Given the description of an element on the screen output the (x, y) to click on. 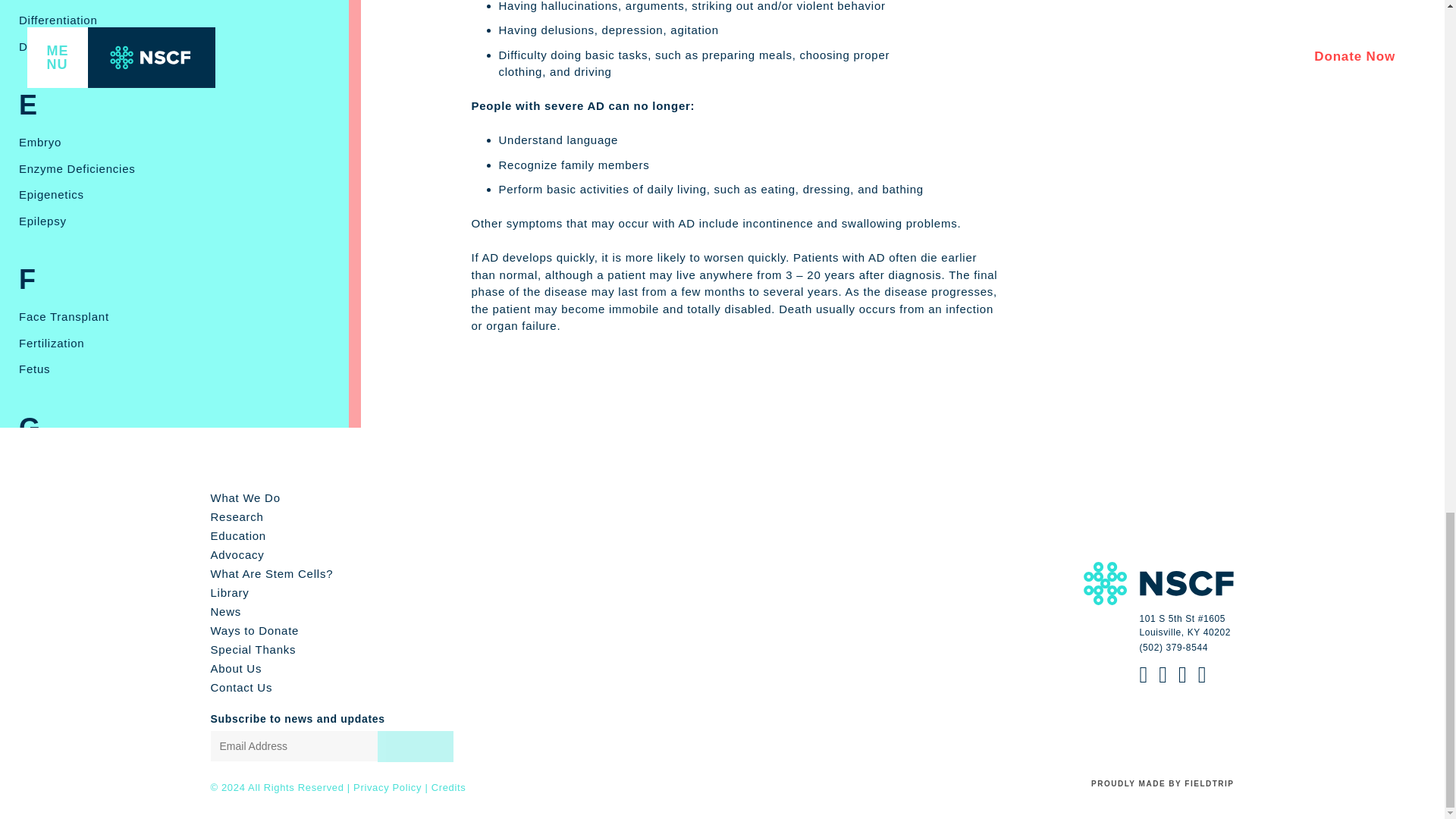
Subscribe (414, 746)
